Given the description of an element on the screen output the (x, y) to click on. 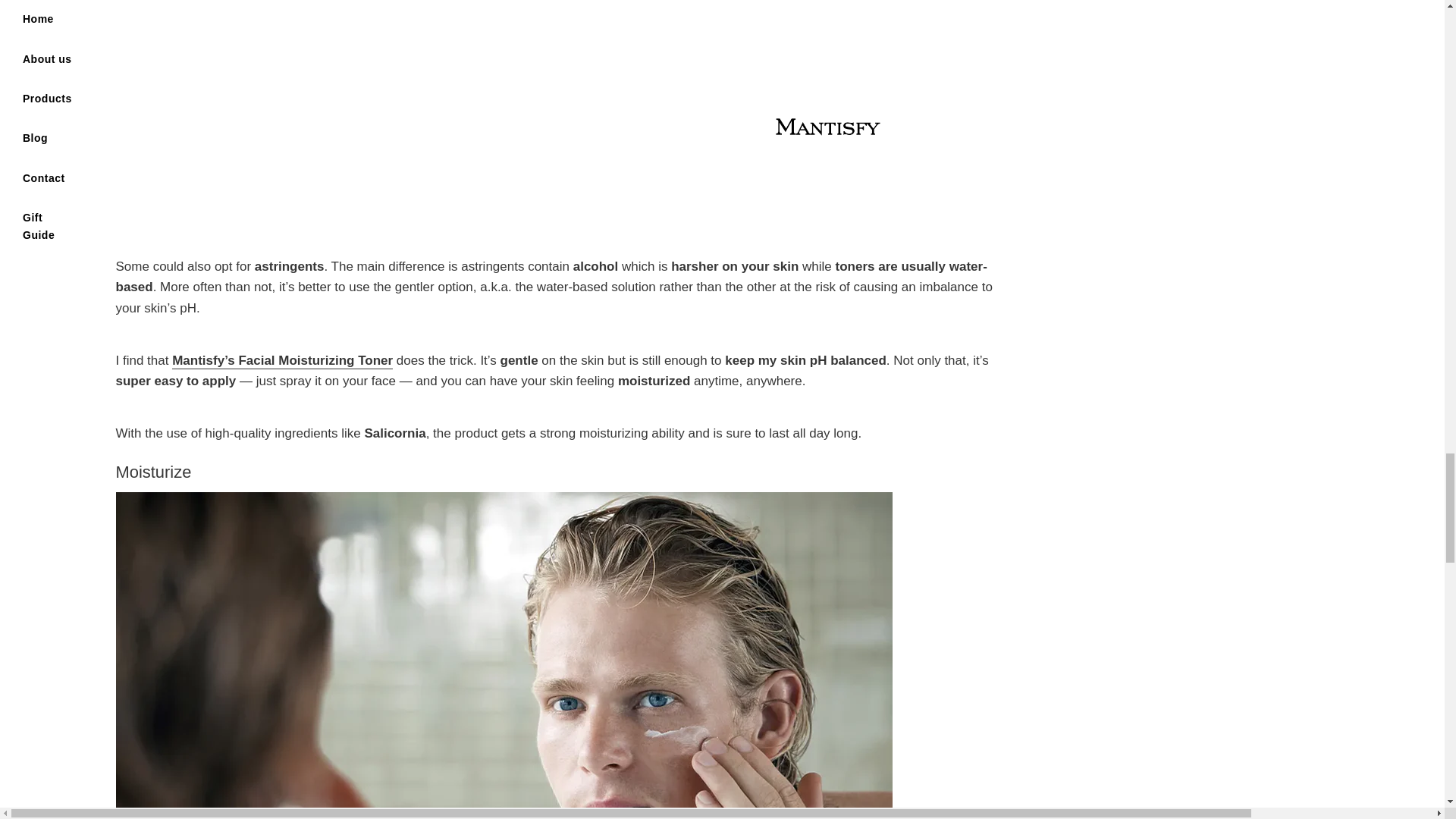
moisturizing toner (282, 360)
